Given the description of an element on the screen output the (x, y) to click on. 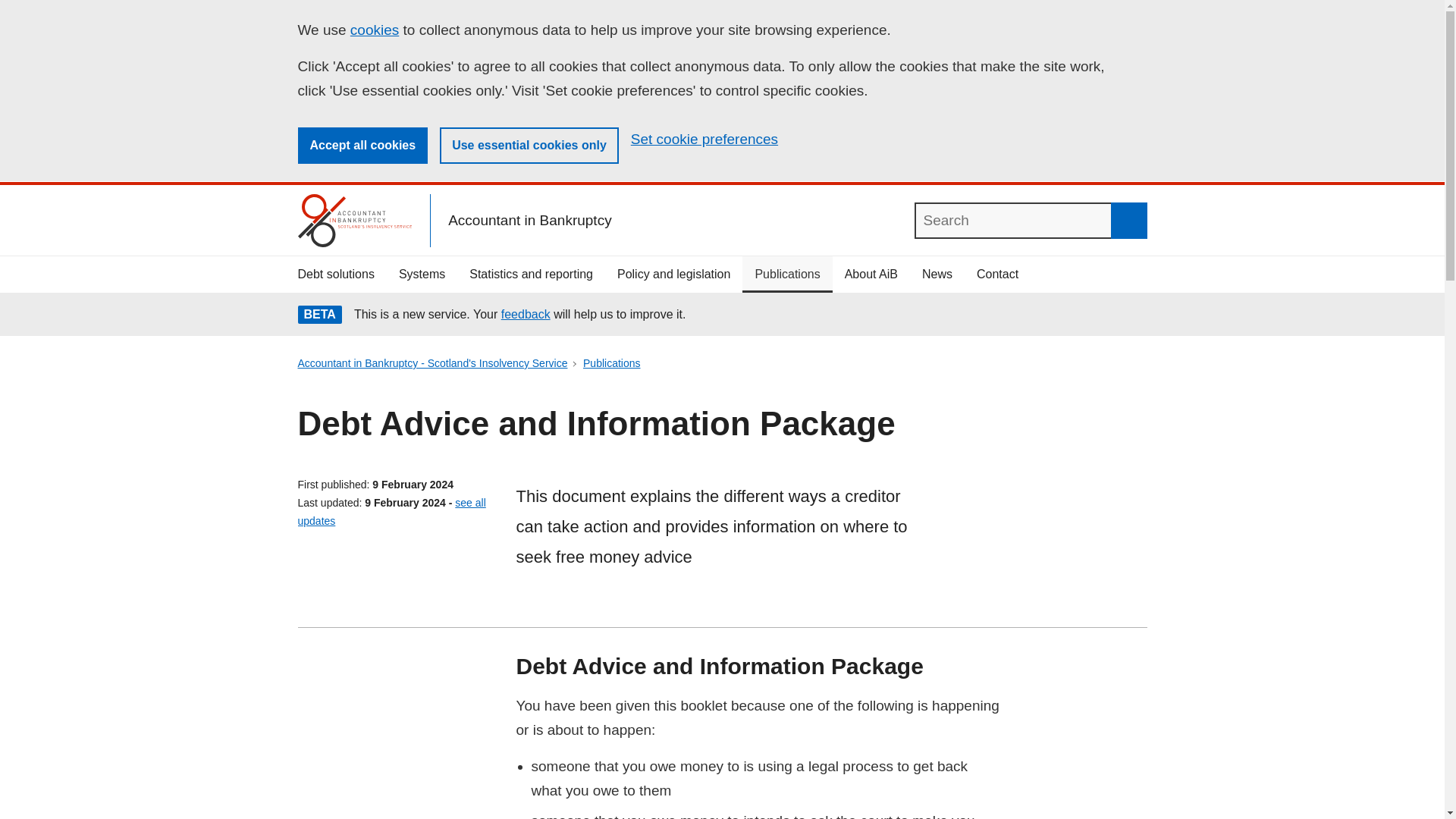
Publications (786, 274)
About AiB (871, 274)
Set cookie preferences (703, 139)
Statistics and reporting (531, 274)
Contact (996, 274)
Skip to main content (12, 12)
Publications (611, 363)
News (936, 274)
Debt solutions (335, 274)
Accept all cookies (362, 145)
Accountant in Bankruptcy - Scotland's Insolvency Service (432, 363)
Systems (422, 274)
Policy and legislation (673, 274)
Use essential cookies only (528, 145)
feedback (525, 314)
